Given the description of an element on the screen output the (x, y) to click on. 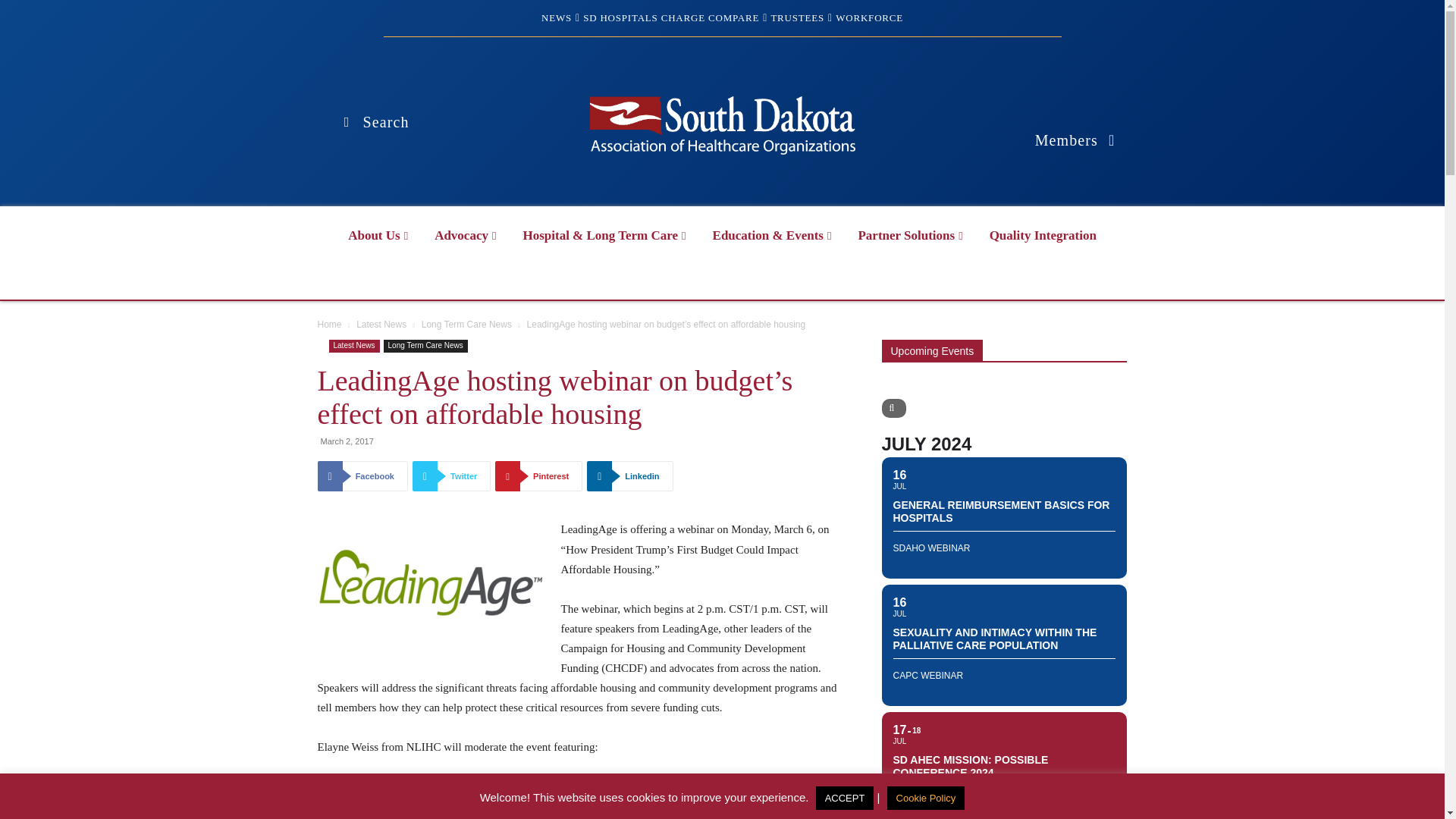
Twitter (451, 476)
View all posts in Latest News (381, 324)
View all posts in Long Term Care News (467, 324)
Facebook (362, 476)
Members (1075, 139)
